Given the description of an element on the screen output the (x, y) to click on. 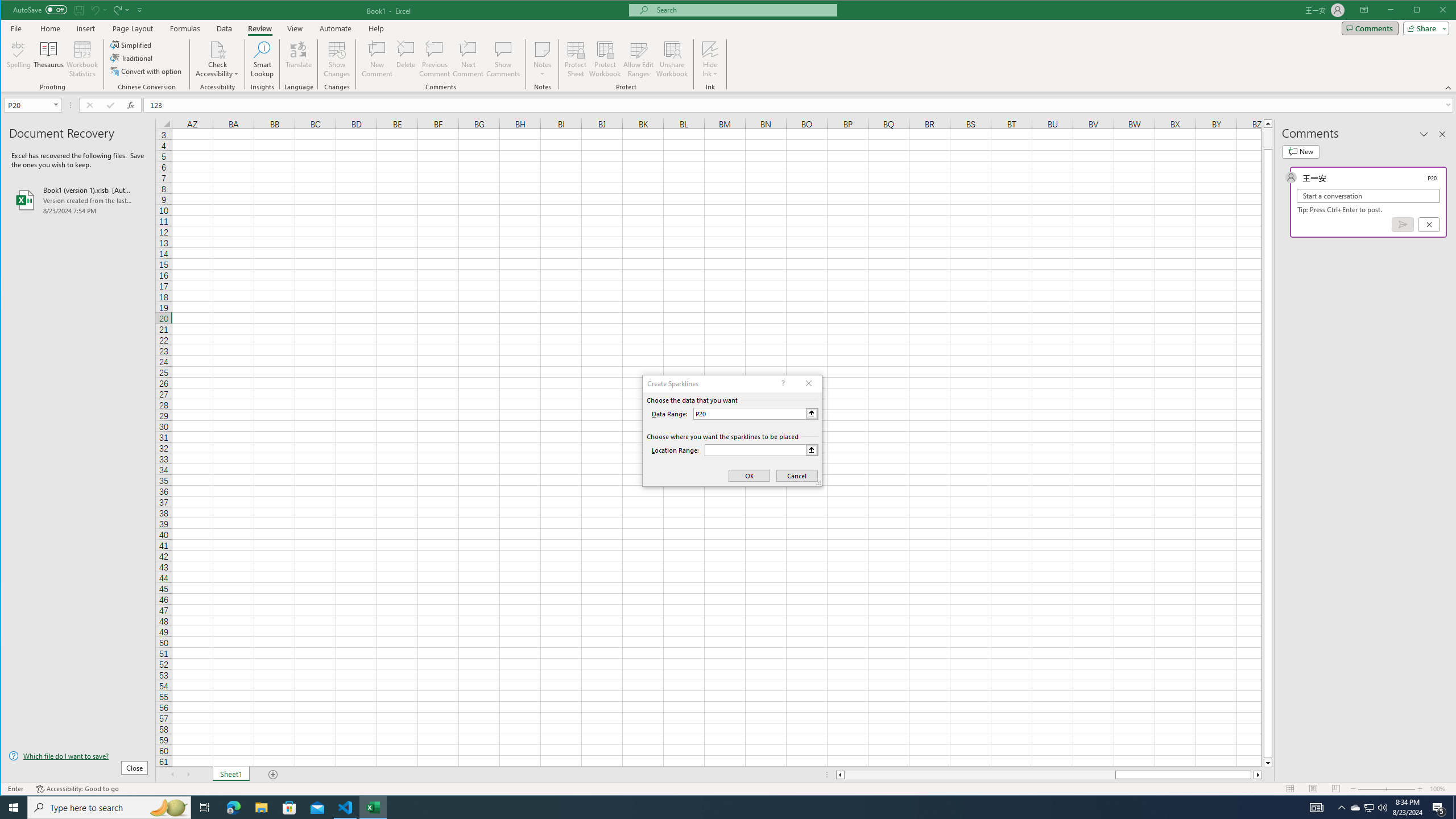
Line up (1267, 122)
Protect Workbook... (604, 59)
Close pane (1441, 133)
Class: MsoCommandBar (728, 45)
Delete (405, 59)
Previous Comment (434, 59)
Page Break Preview (1335, 788)
Convert with option (146, 70)
Collapse the Ribbon (1448, 87)
